Given the description of an element on the screen output the (x, y) to click on. 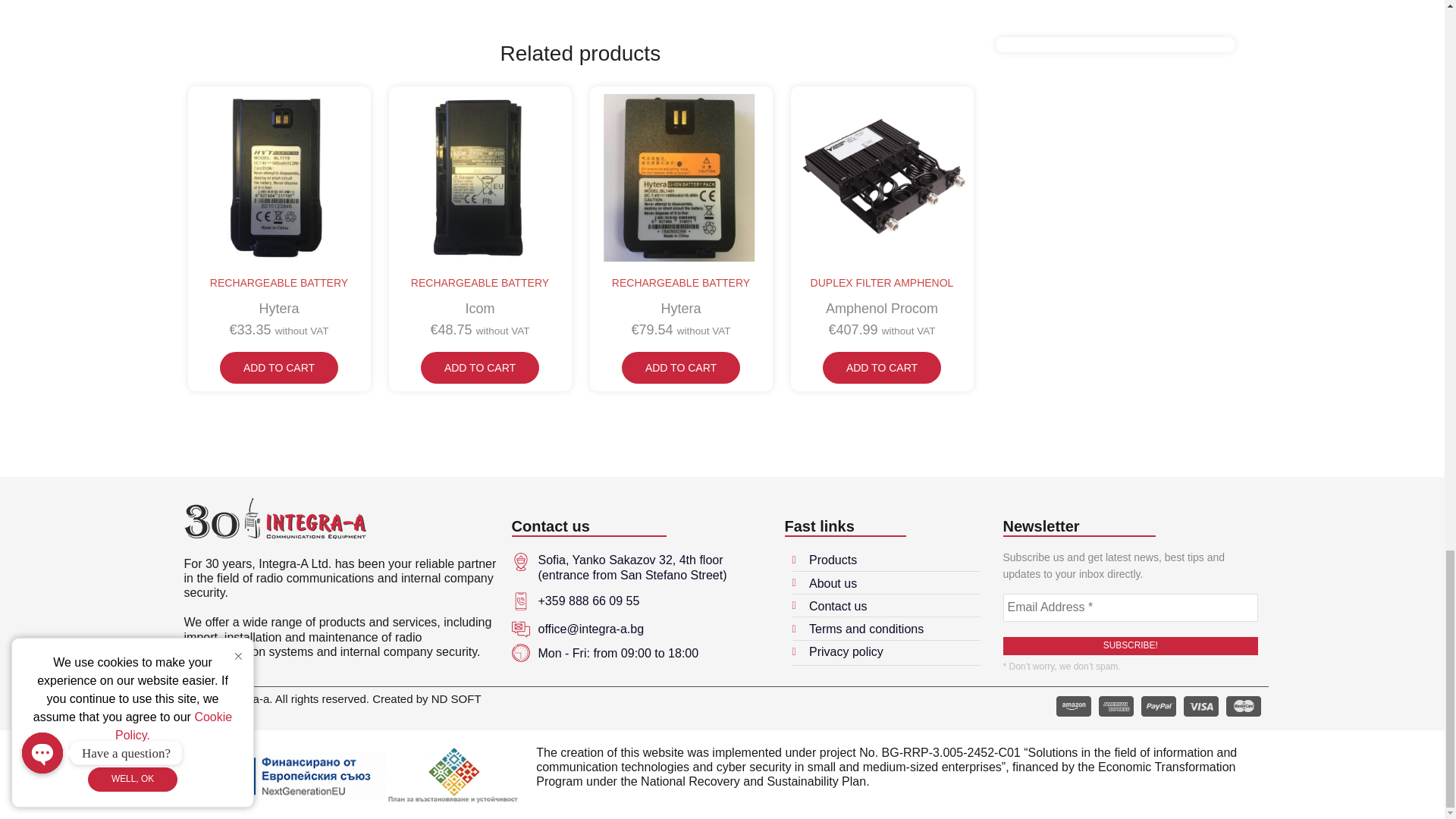
Subscribe! (1130, 646)
Email Address (1130, 607)
